Given the description of an element on the screen output the (x, y) to click on. 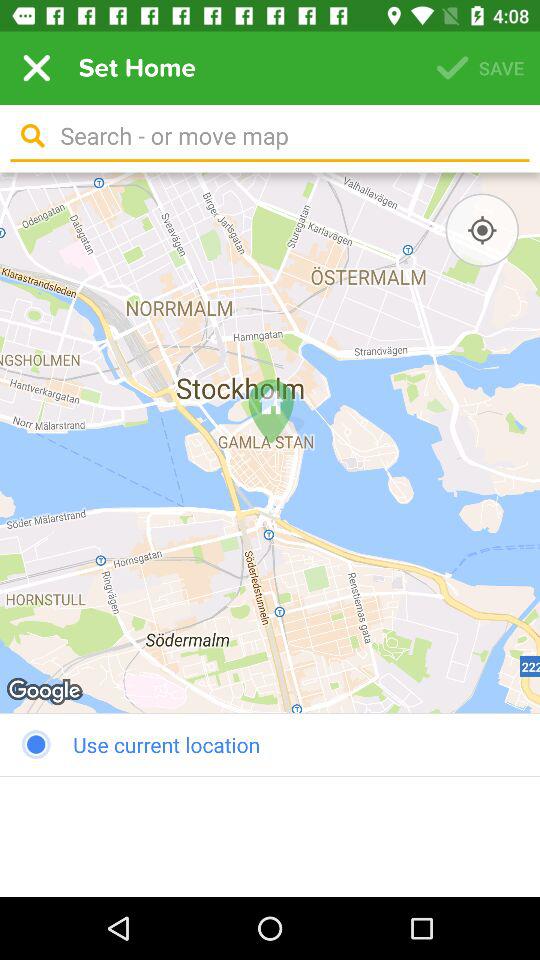
launch the item above use current location icon (270, 442)
